Given the description of an element on the screen output the (x, y) to click on. 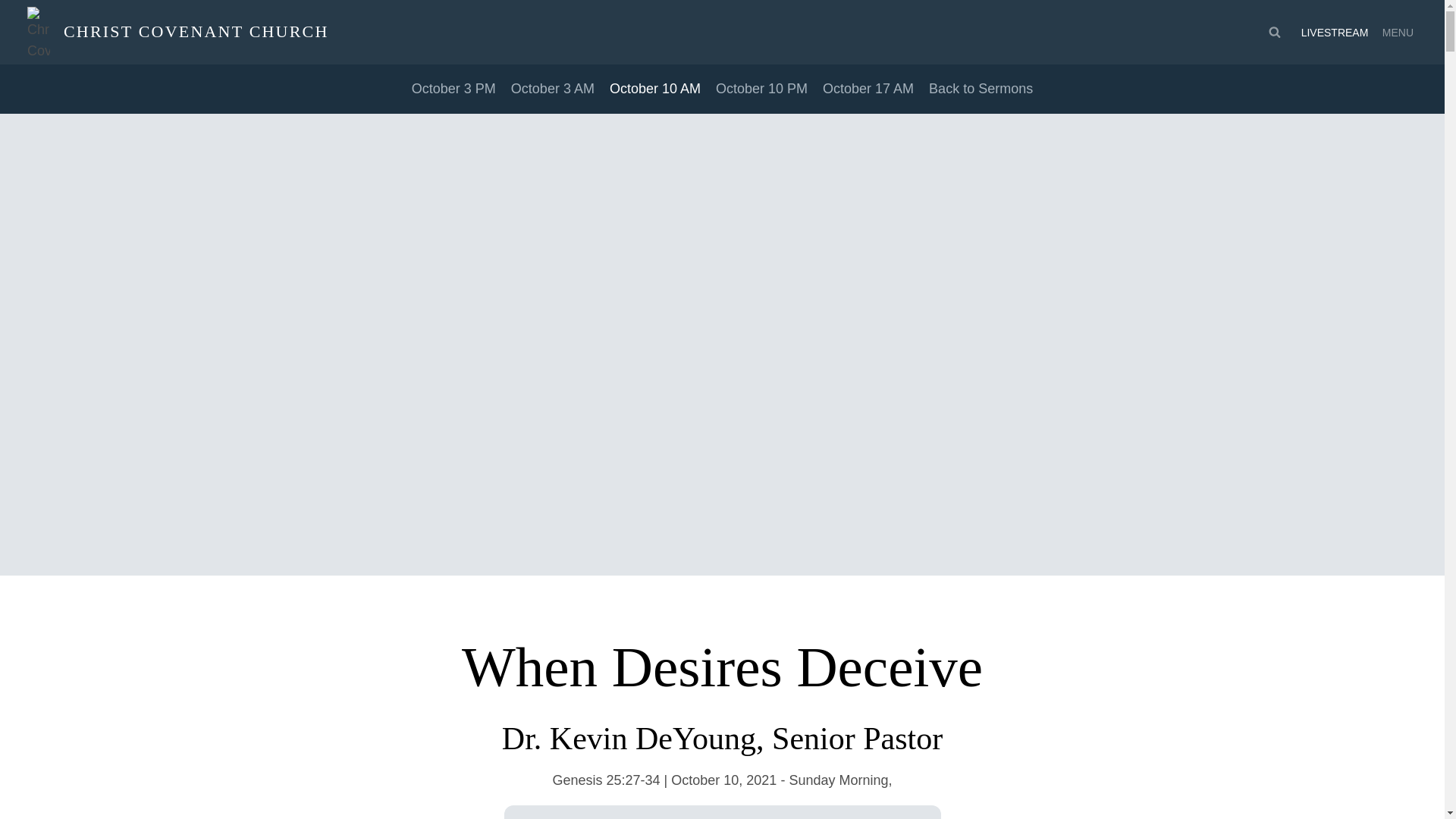
October 17 AM (868, 88)
October 3 PM (454, 88)
CHRIST COVENANT CHURCH (178, 32)
LIVESTREAM (1334, 31)
MENU (1398, 31)
October 10 PM (762, 88)
Back to Sermons (980, 88)
October 3 AM (552, 88)
